Given the description of an element on the screen output the (x, y) to click on. 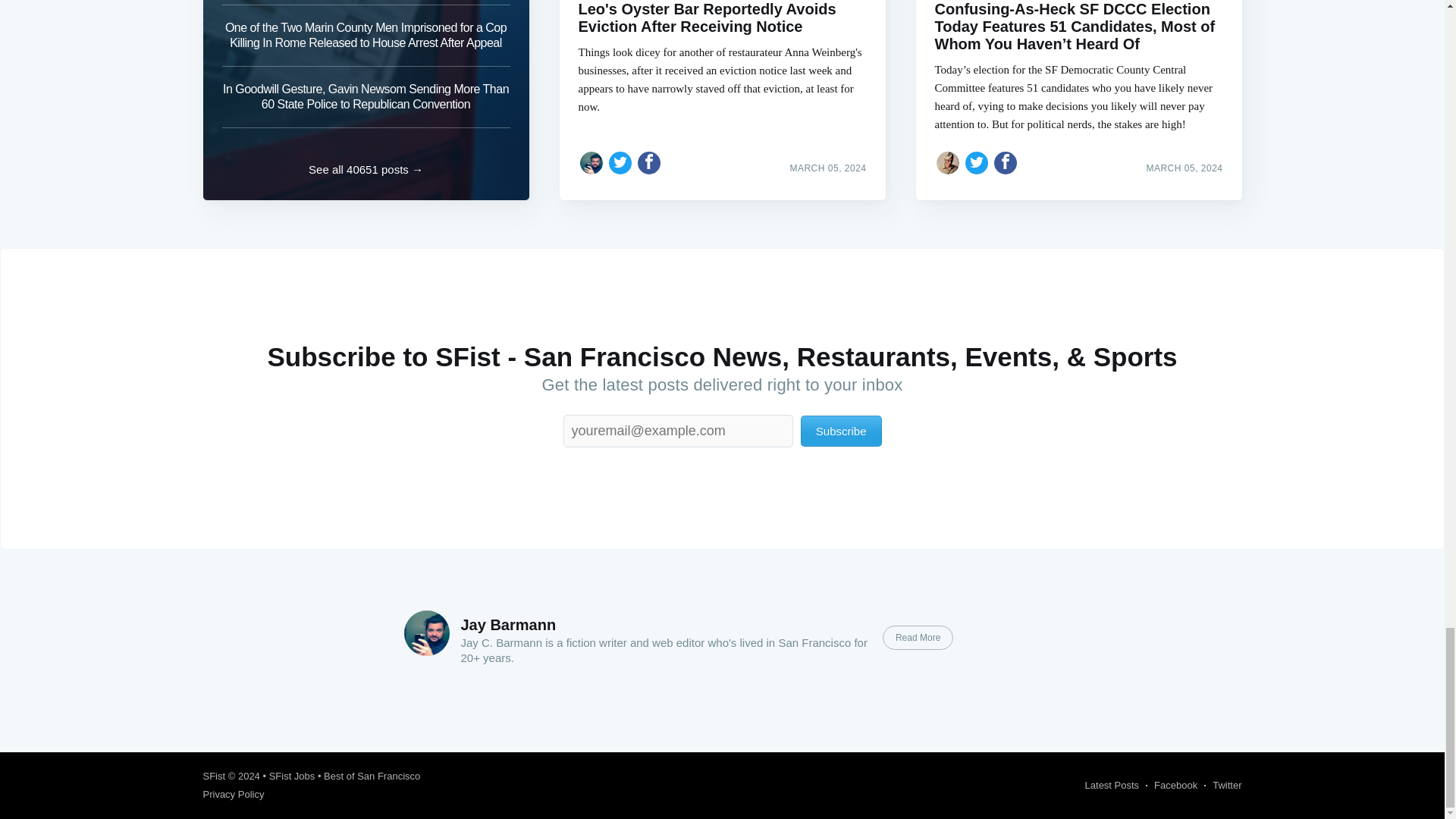
Share on Facebook (1004, 162)
Share on Facebook (649, 162)
Share on Twitter (620, 162)
Share on Twitter (976, 162)
